Given the description of an element on the screen output the (x, y) to click on. 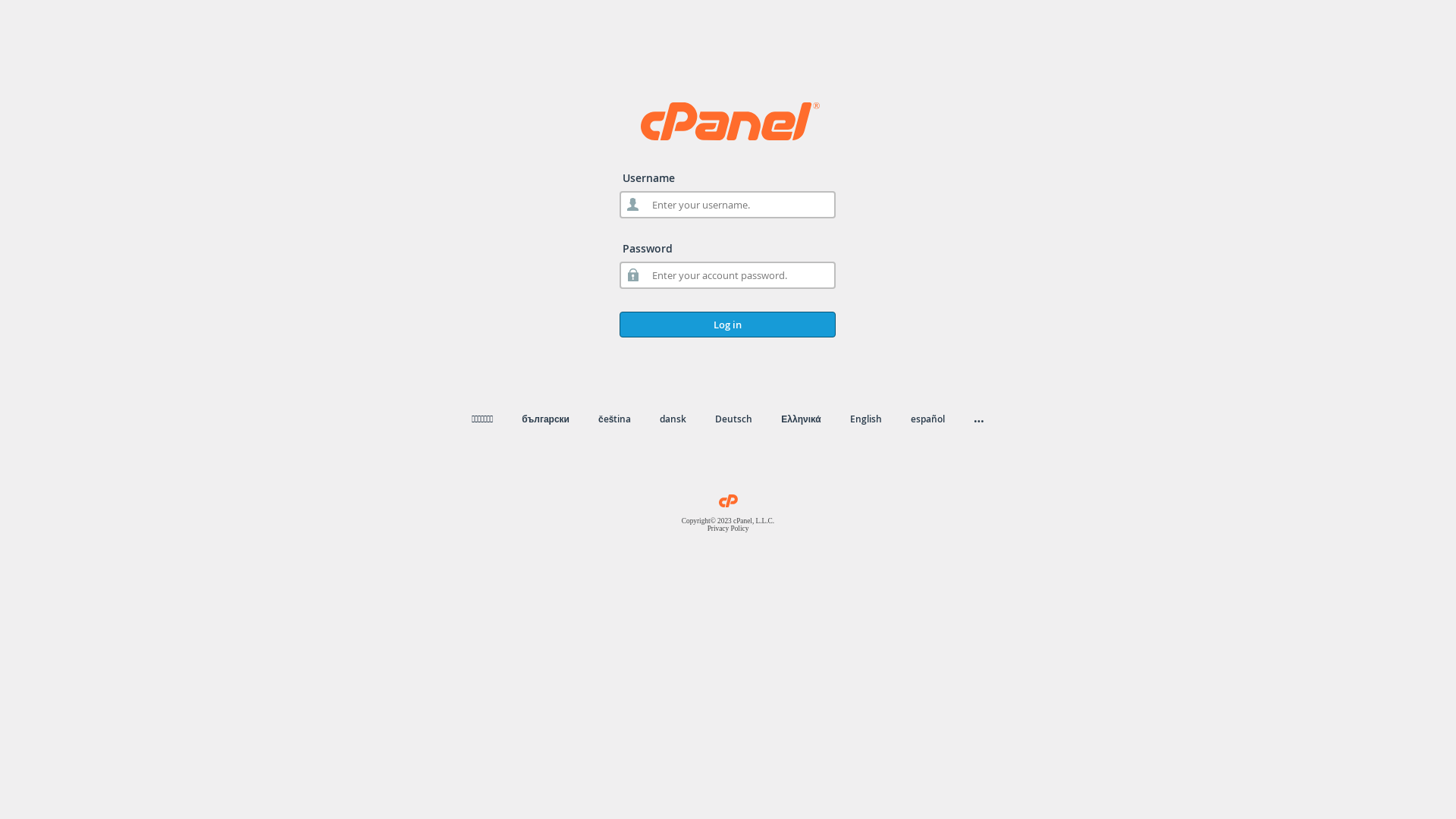
Log in Element type: text (727, 324)
English Element type: text (865, 418)
dansk Element type: text (672, 418)
Privacy Policy Element type: text (728, 528)
Deutsch Element type: text (733, 418)
